Given the description of an element on the screen output the (x, y) to click on. 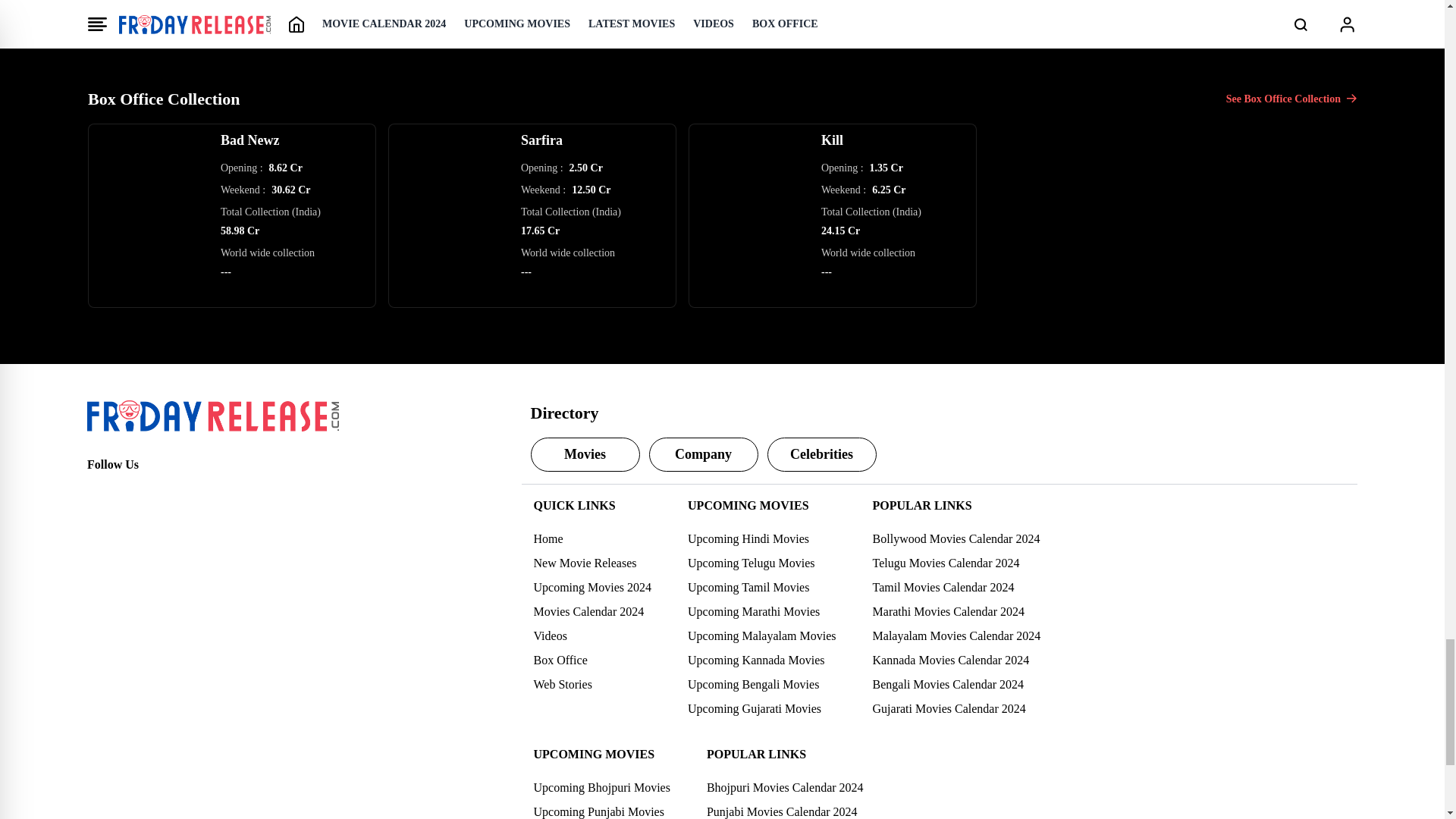
Instagram Page (165, 491)
Youtube Page (199, 491)
Facebook Page (99, 491)
Twitter Page (132, 491)
